Given the description of an element on the screen output the (x, y) to click on. 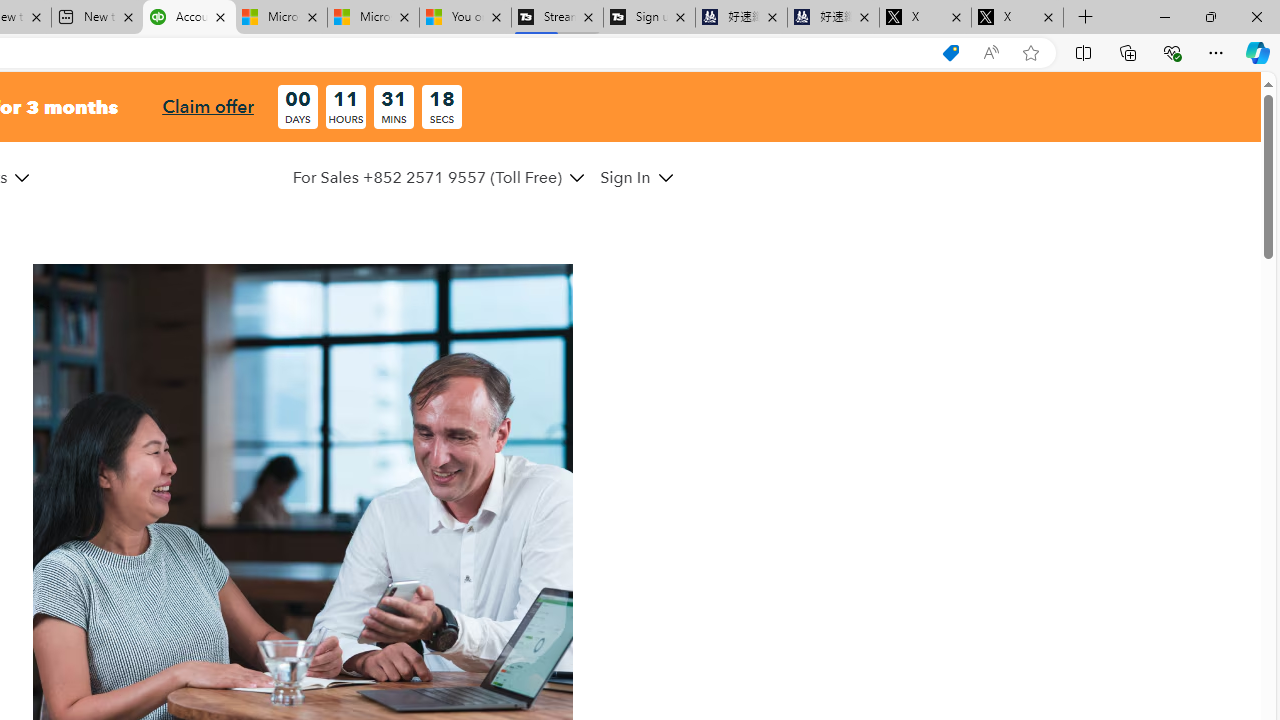
X (1017, 17)
Read aloud this page (Ctrl+Shift+U) (991, 53)
Restore (1210, 16)
Sign In (625, 177)
Shopping in Microsoft Edge (950, 53)
For Sales +852 2571 9557 (Toll Free) (437, 177)
For Sales +852 2571 9557 (Toll Free) (427, 177)
Streaming Coverage | T3 (557, 17)
Close tab (1048, 16)
Settings and more (Alt+F) (1215, 52)
Browser essentials (1171, 52)
Collections (1128, 52)
Minimize (1164, 16)
Microsoft Start (372, 17)
